Given the description of an element on the screen output the (x, y) to click on. 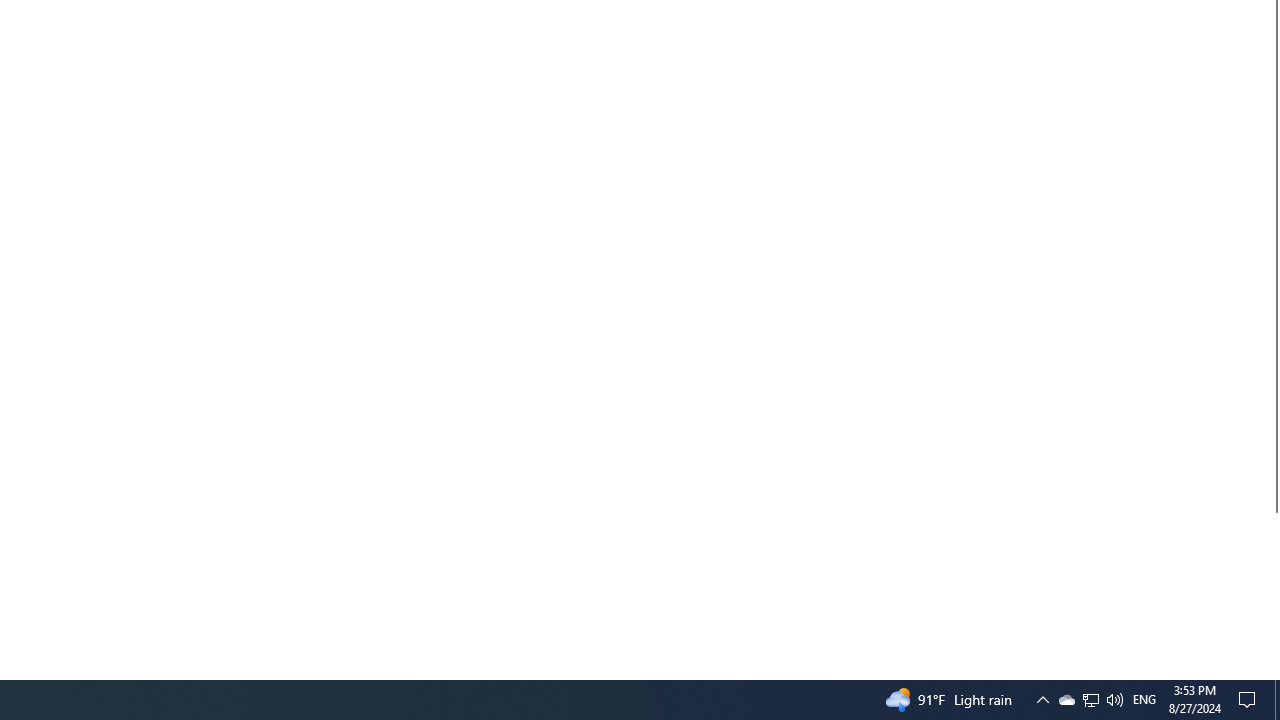
Q2790: 100% (1114, 699)
Vertical Small Increase (1272, 671)
User Promoted Notification Area (1090, 699)
Action Center, No new notifications (1250, 699)
Show desktop (1066, 699)
Notification Chevron (1091, 699)
Tray Input Indicator - English (United States) (1277, 699)
Vertical Large Increase (1042, 699)
